Given the description of an element on the screen output the (x, y) to click on. 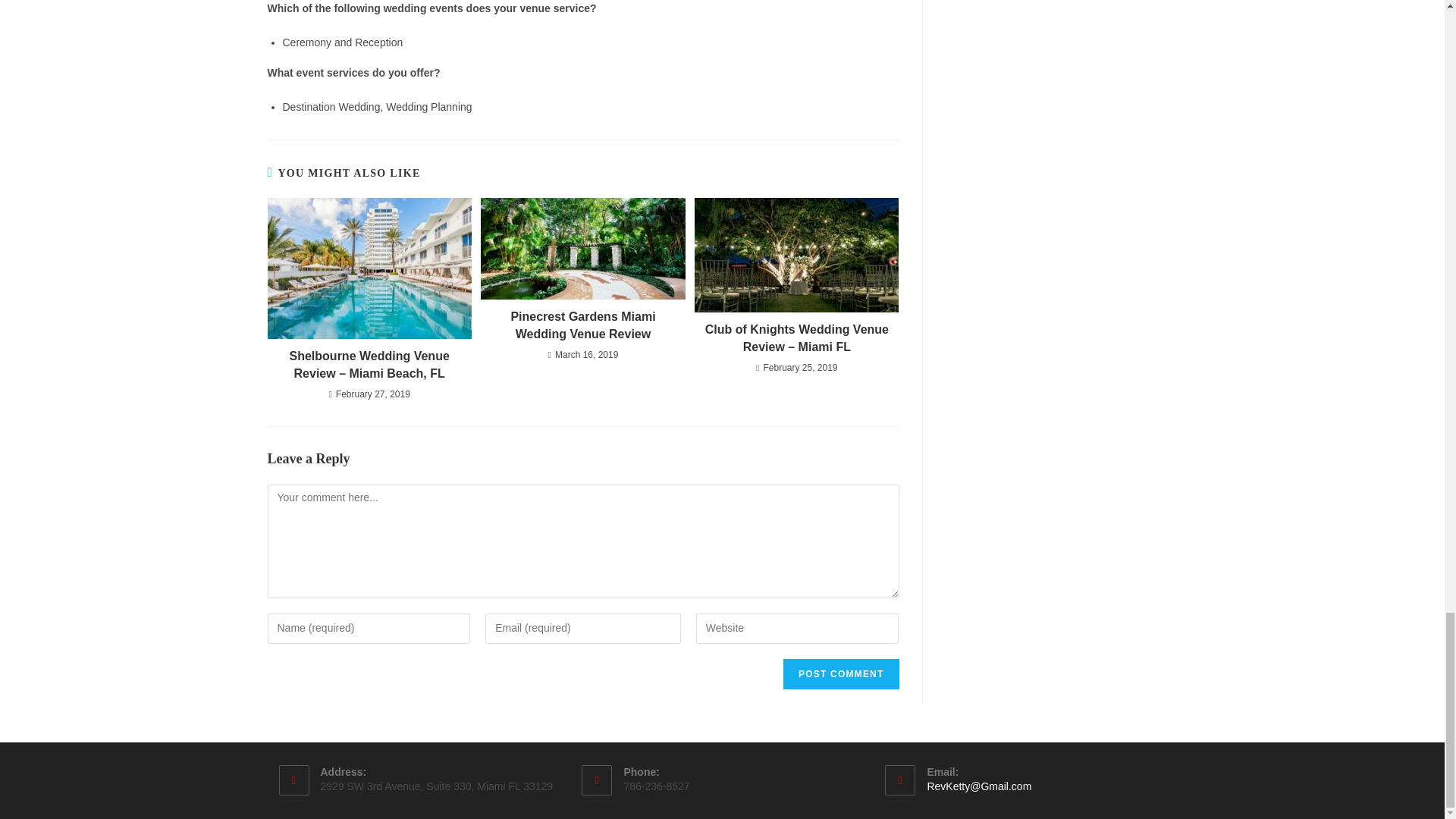
Pinecrest Gardens Miami Wedding Venue Review (582, 325)
Post Comment (840, 674)
Post Comment (840, 674)
